Given the description of an element on the screen output the (x, y) to click on. 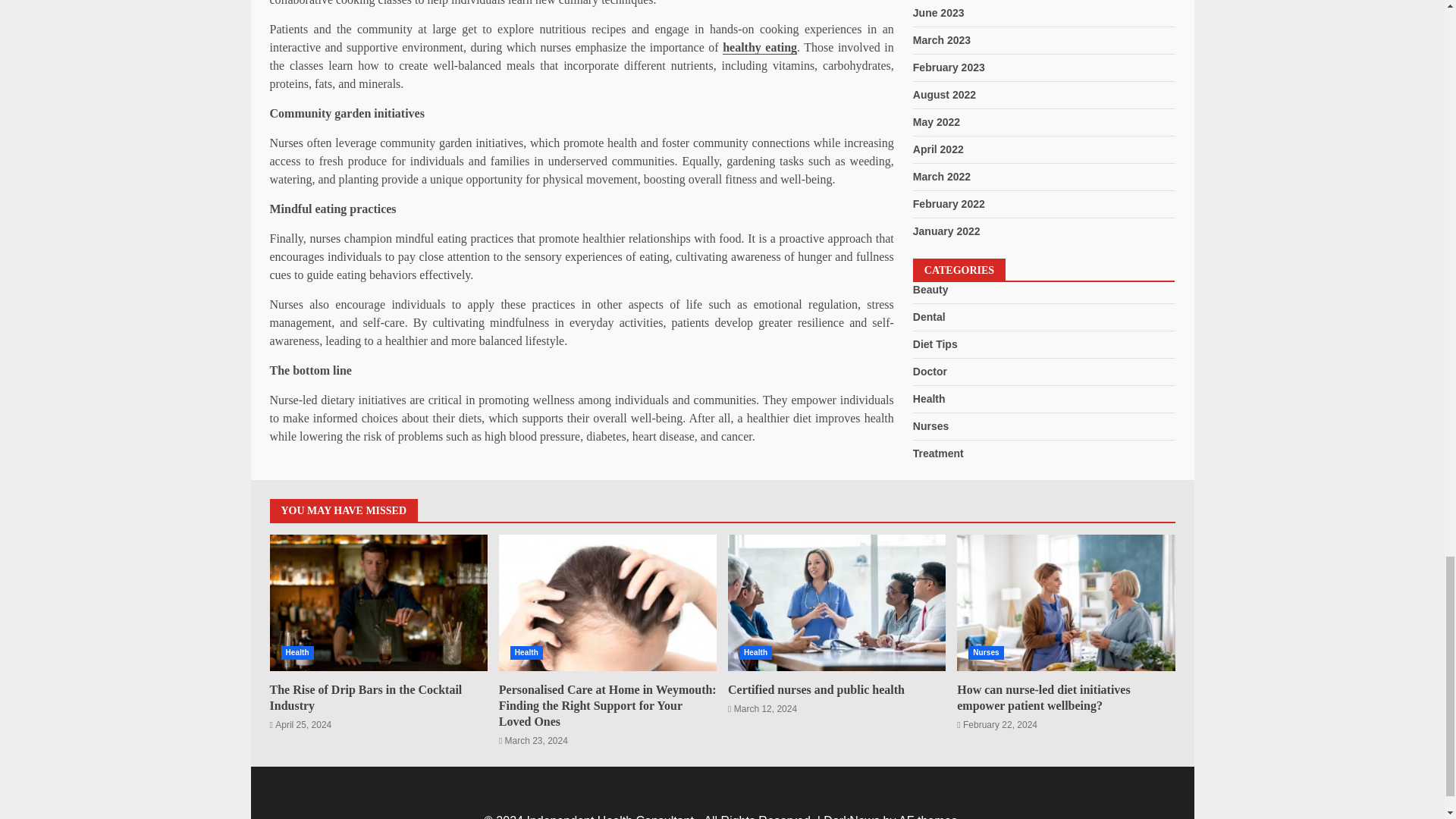
healthy eating (759, 47)
